Given the description of an element on the screen output the (x, y) to click on. 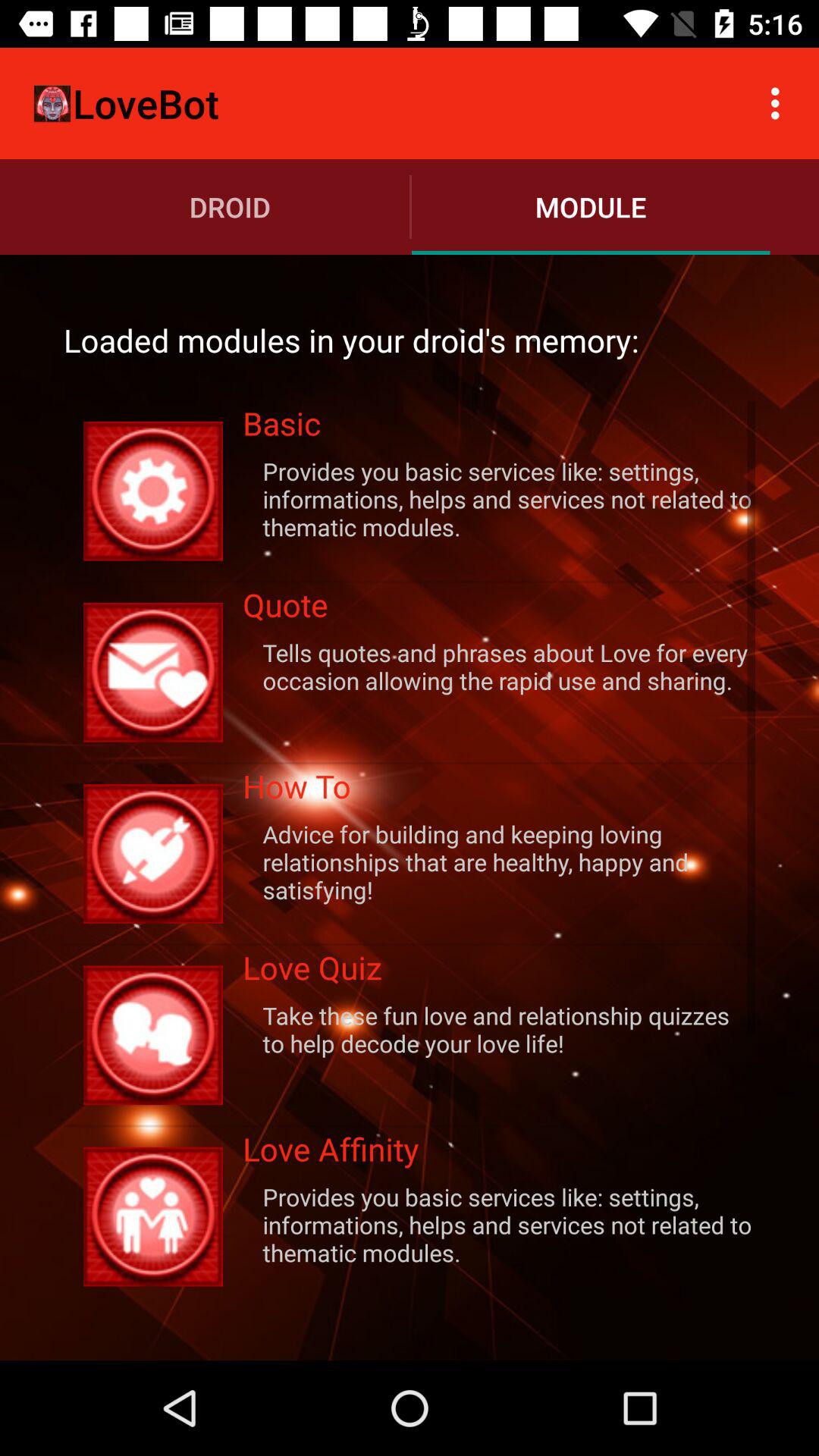
turn off the icon below the quote item (498, 666)
